Given the description of an element on the screen output the (x, y) to click on. 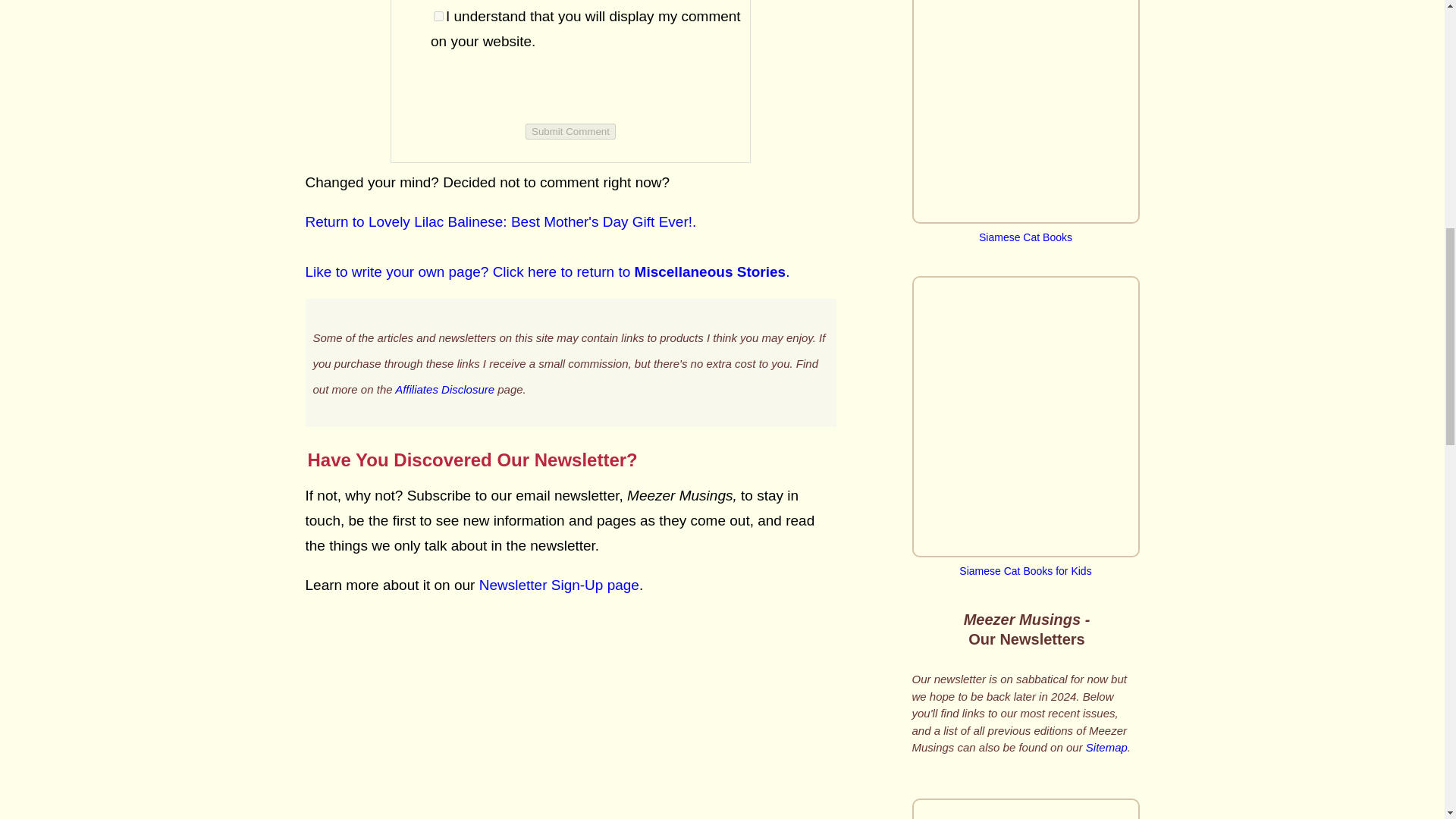
Siamese Cat Books for Kids (1024, 564)
Newsletter Sign-Up page (559, 584)
Submit Comment (570, 131)
1 (438, 16)
Siamese Cat Books (1024, 111)
Sitemap (1106, 747)
Affiliates Disclosure (444, 388)
Meezer Musings: December 2023 (1024, 808)
Siamese Cat Books (1024, 230)
Submit Comment (570, 131)
